Given the description of an element on the screen output the (x, y) to click on. 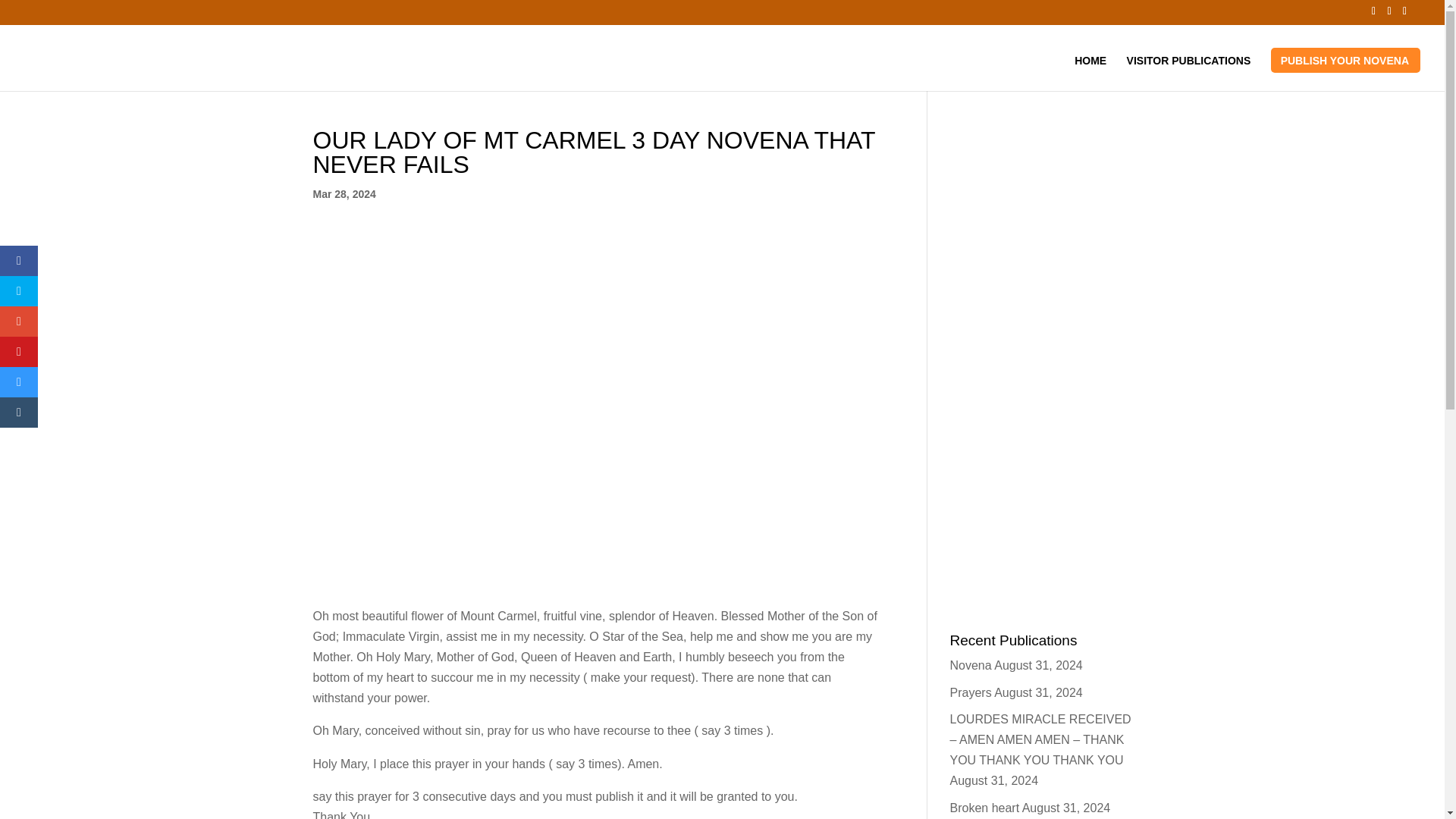
Novena (970, 665)
PUBLISH YOUR NOVENA (1345, 72)
HOME (1090, 72)
Prayers (970, 692)
Broken heart (984, 807)
VISITOR PUBLICATIONS (1188, 72)
